Given the description of an element on the screen output the (x, y) to click on. 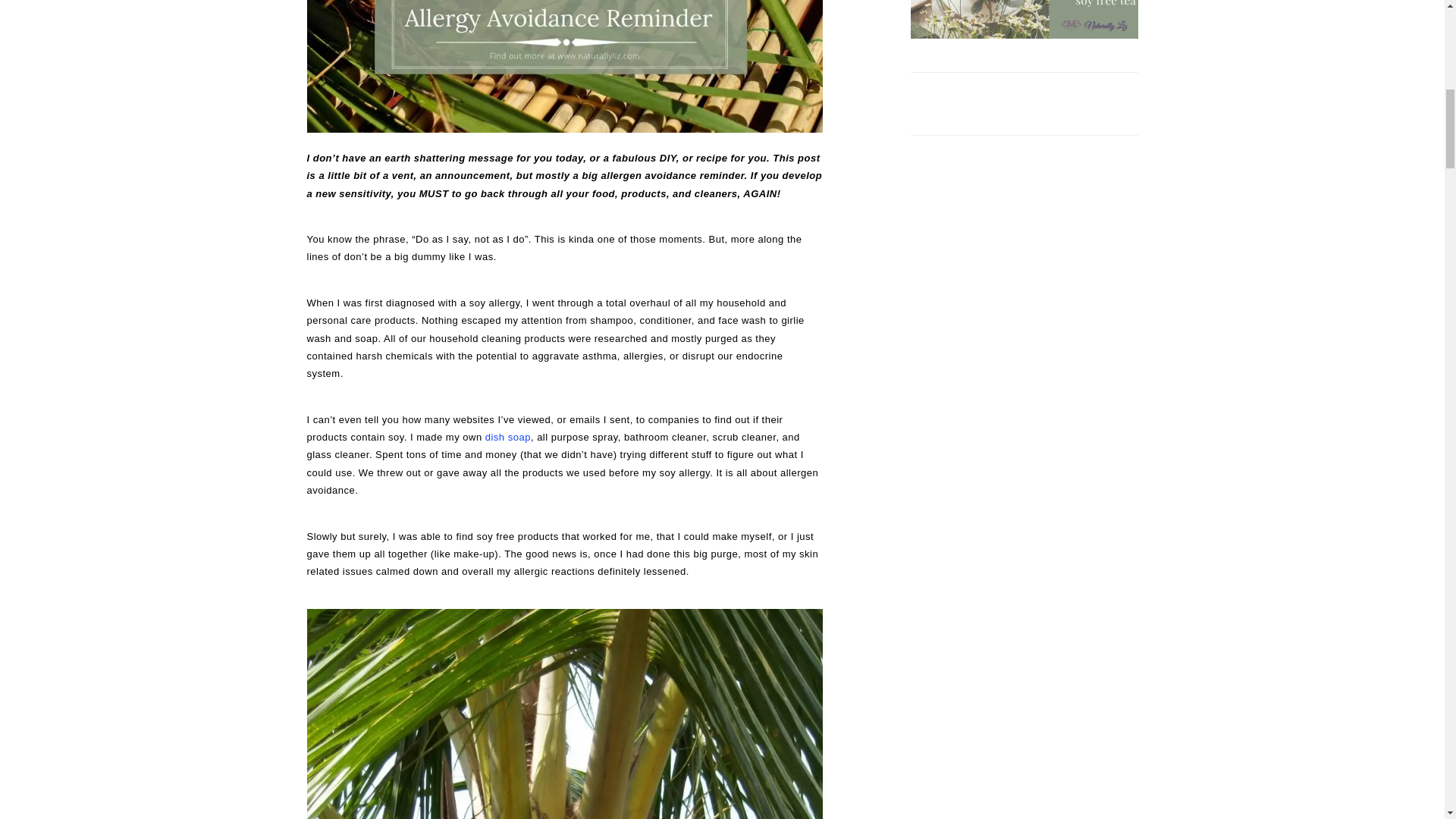
dish soap (507, 437)
